Given the description of an element on the screen output the (x, y) to click on. 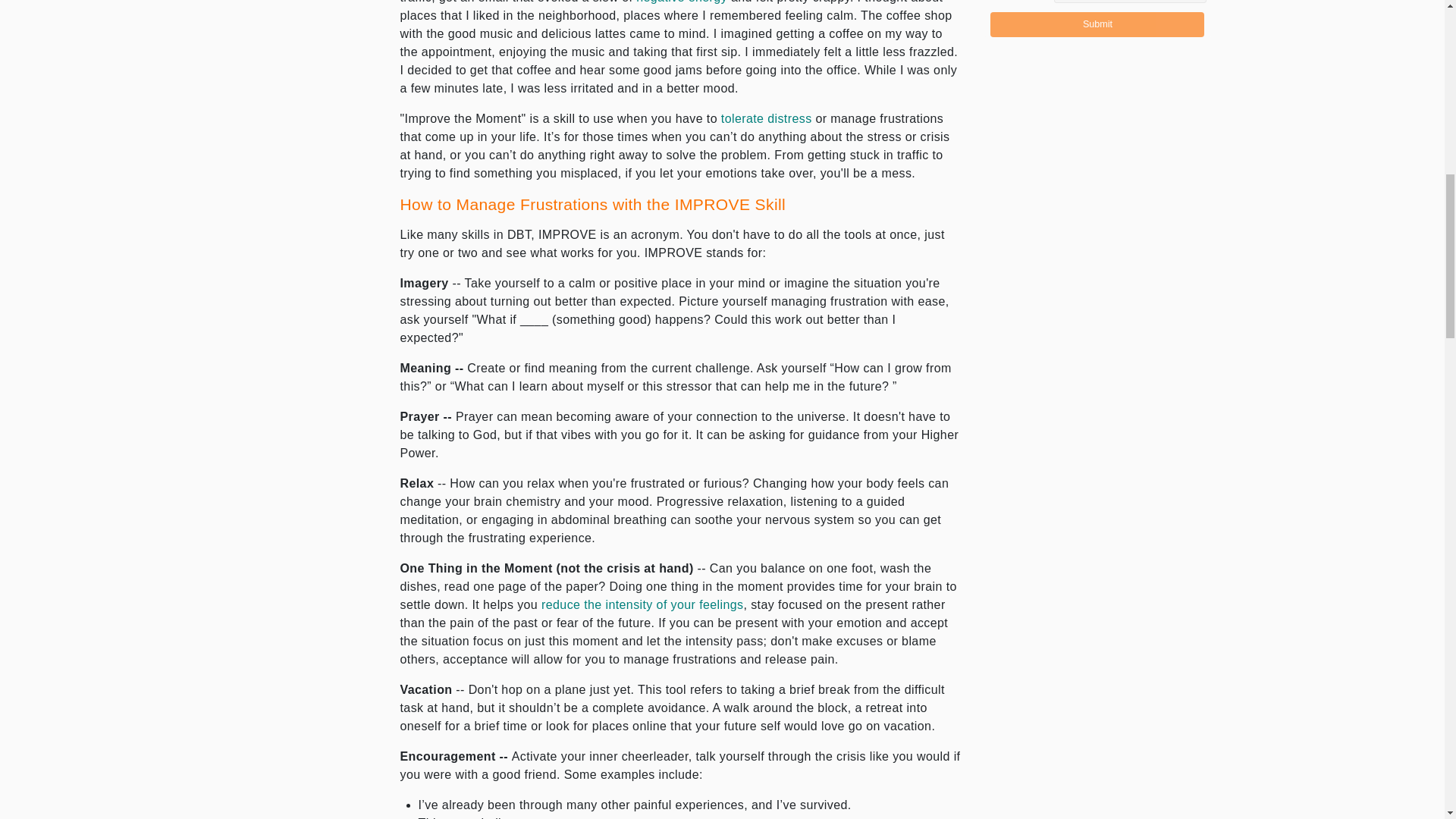
Submit (1097, 24)
